Given the description of an element on the screen output the (x, y) to click on. 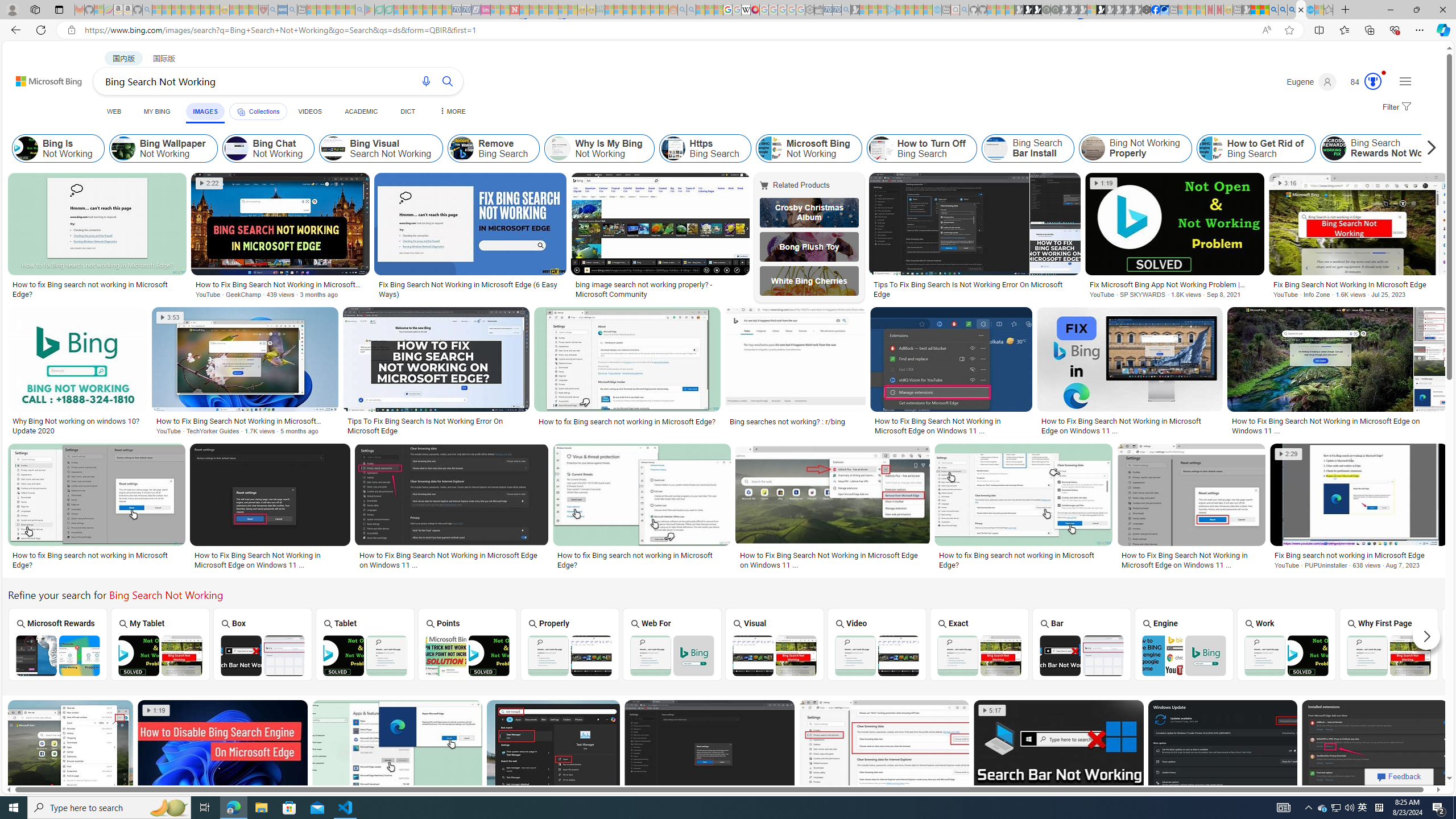
Why Bing Not working on windows 10? Update 2020 (77, 425)
Why First Page (1388, 643)
Bing searches not working? : r/bing (794, 421)
Bing Search Not Working - Search Images (1300, 9)
Bing Work Search Not Working Work (1286, 643)
Remove Bing Search (461, 148)
